Given the description of an element on the screen output the (x, y) to click on. 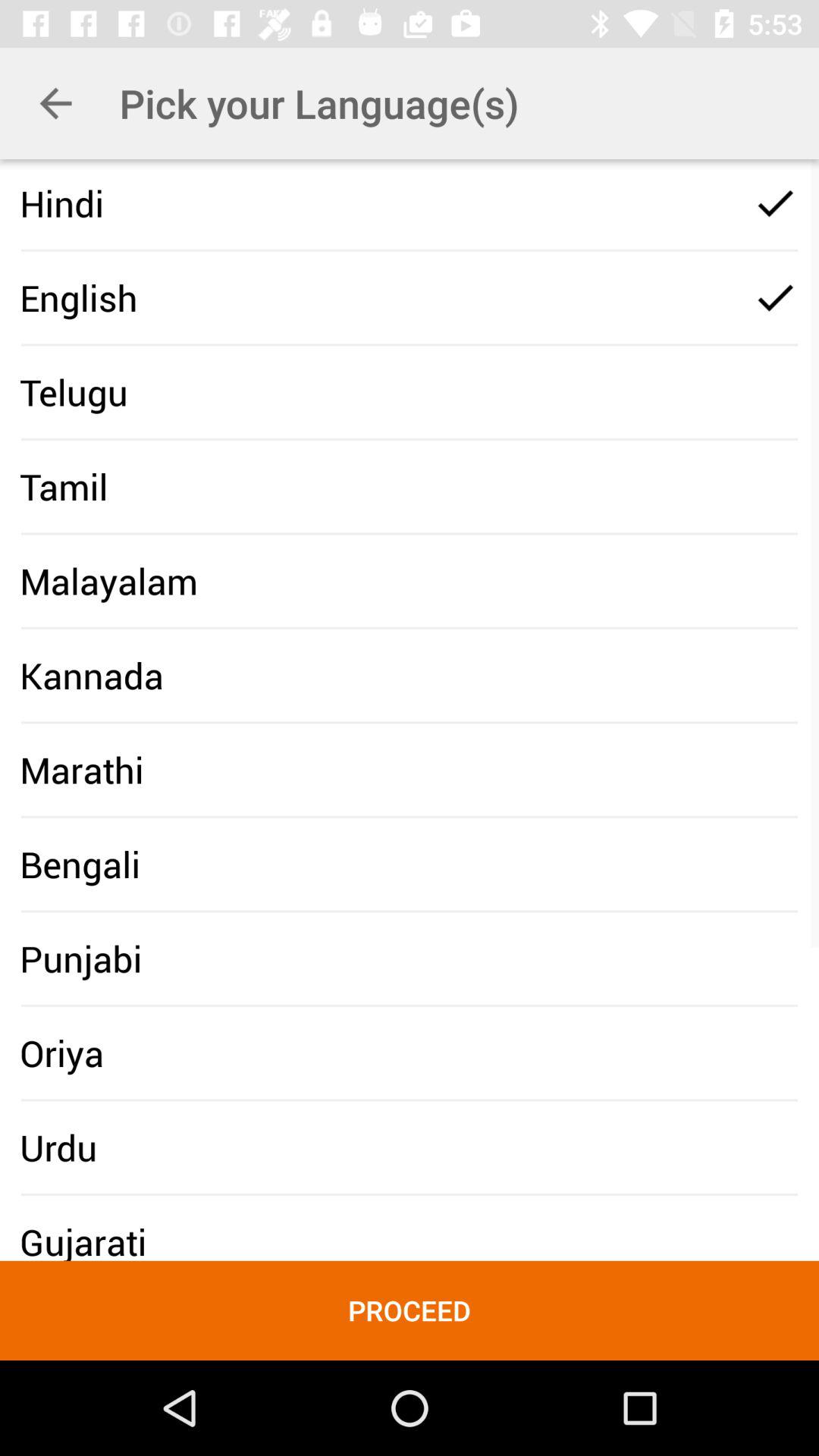
open the icon next to pick your language item (55, 103)
